Given the description of an element on the screen output the (x, y) to click on. 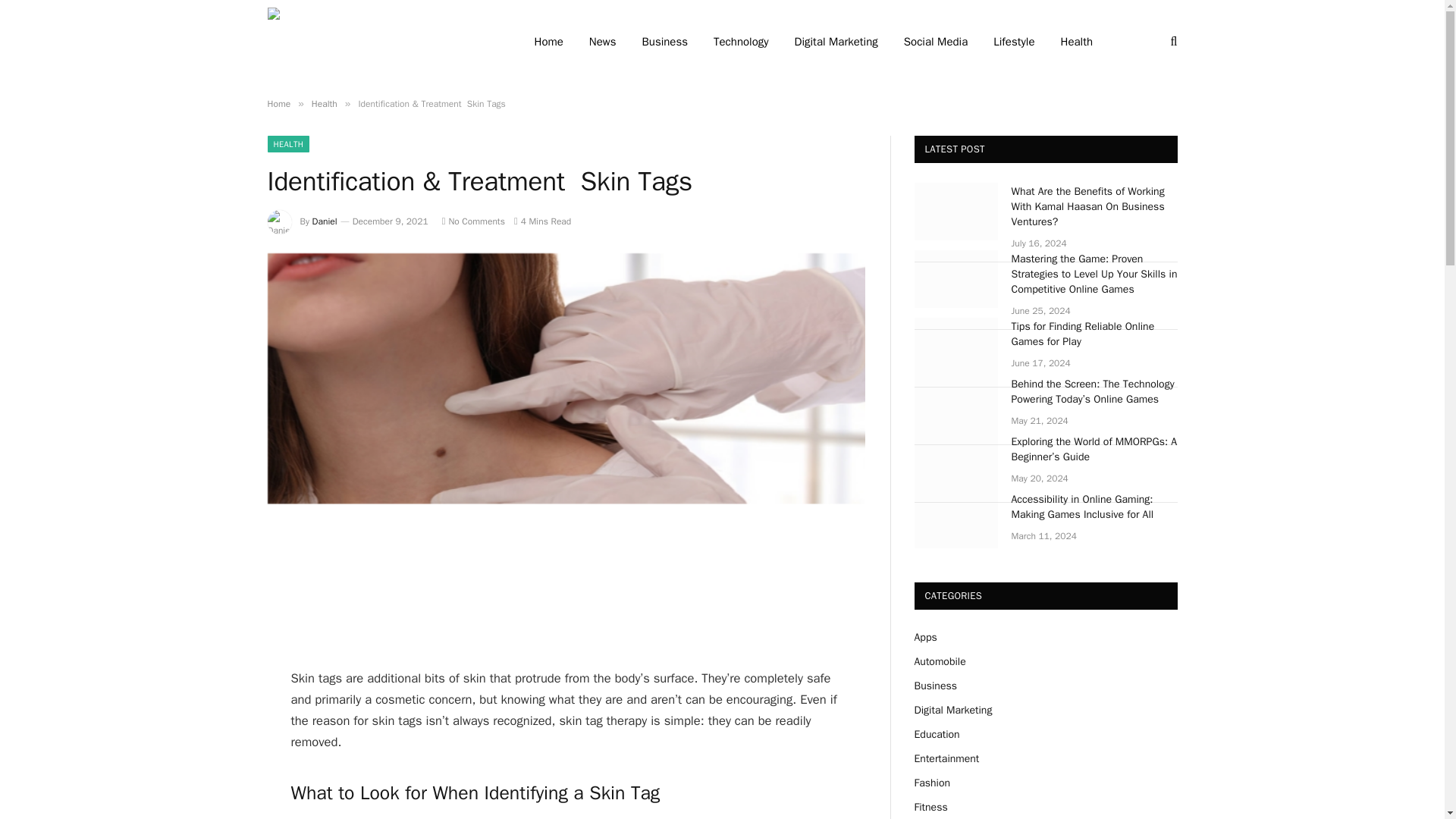
Home (277, 103)
HEALTH (287, 143)
Social Media (935, 41)
No Comments (473, 221)
Posts by Daniel (325, 221)
Technology (740, 41)
Digital Marketing (836, 41)
Health (324, 103)
Daniel (325, 221)
Timesmagazine24 (380, 41)
